Given the description of an element on the screen output the (x, y) to click on. 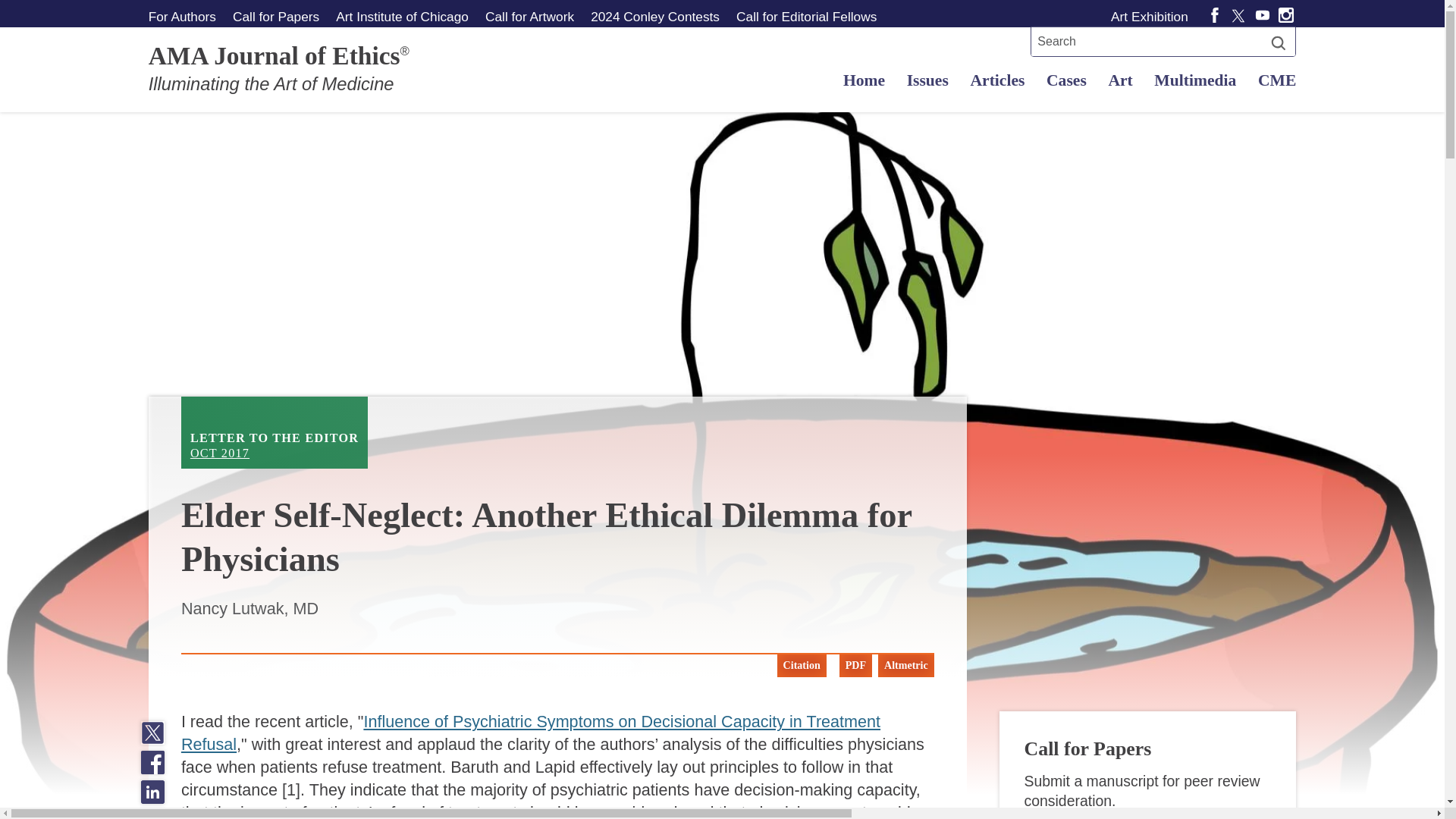
Citation (802, 665)
CME (1272, 80)
Cases (1065, 80)
Art (1120, 80)
Search (1278, 42)
Skip to main content (274, 432)
Altmetric (529, 15)
